Given the description of an element on the screen output the (x, y) to click on. 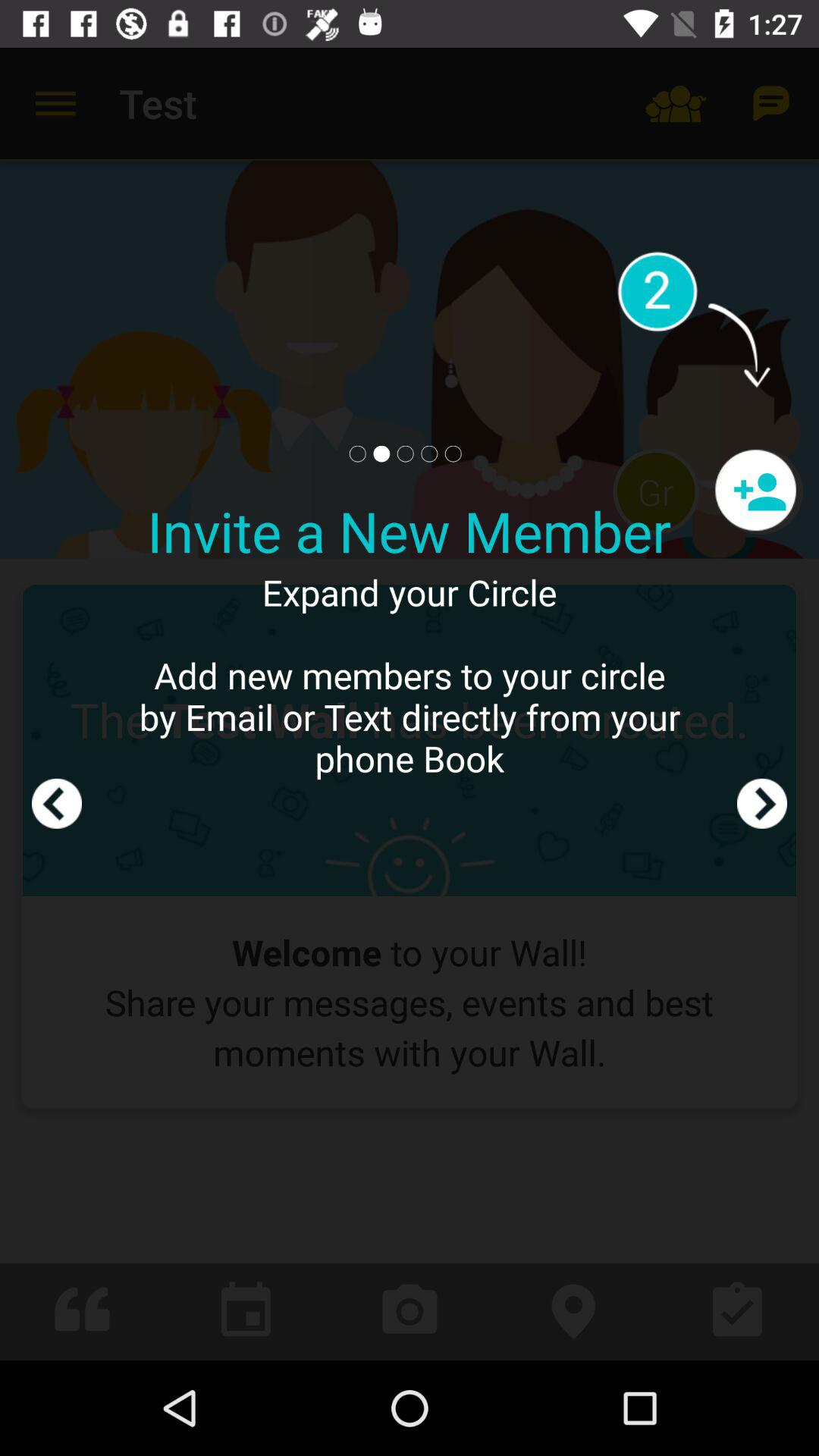
go back a page (56, 703)
